Given the description of an element on the screen output the (x, y) to click on. 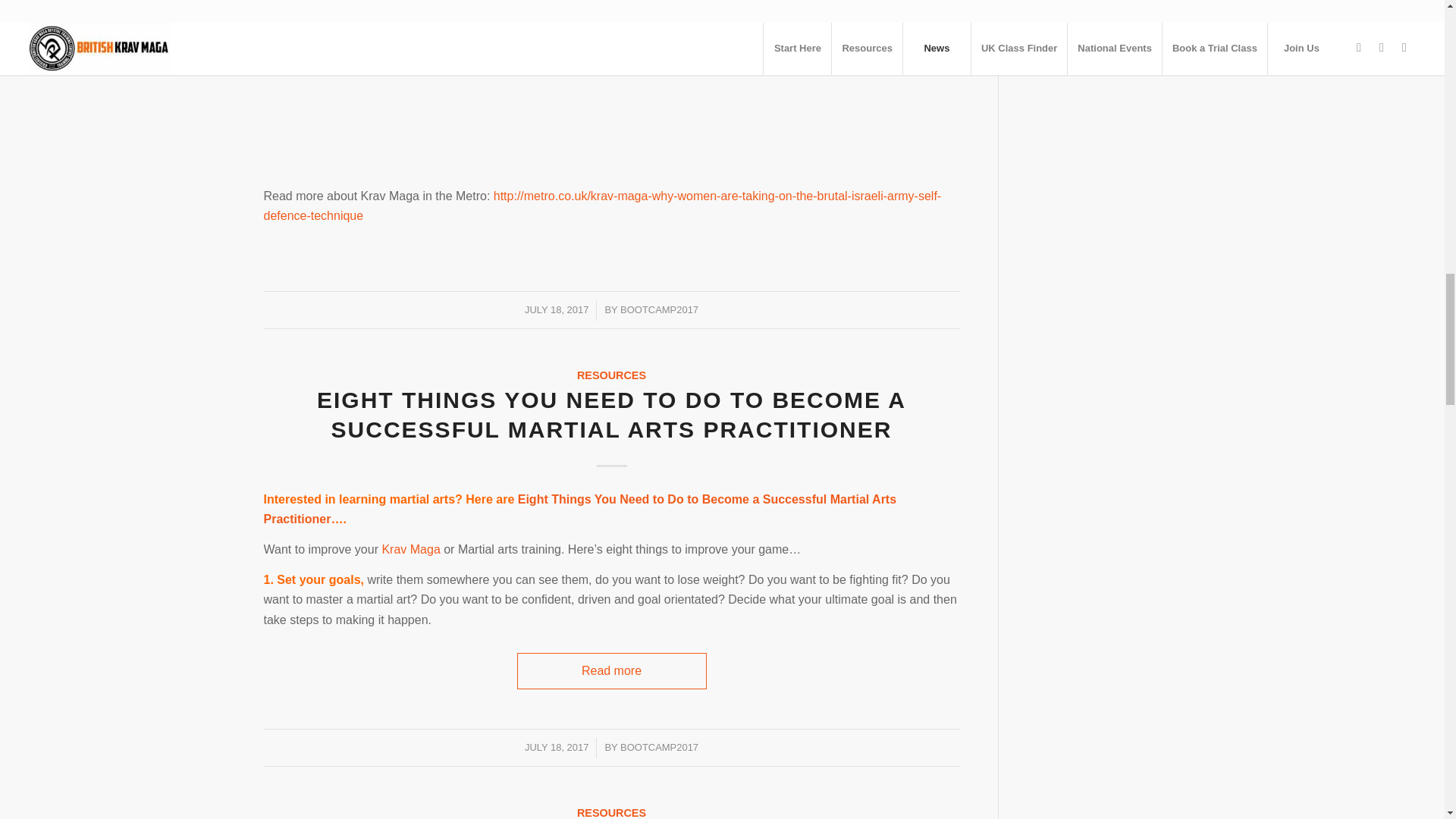
Posts by bootcamp2017 (659, 747)
Posts by bootcamp2017 (659, 309)
